Given the description of an element on the screen output the (x, y) to click on. 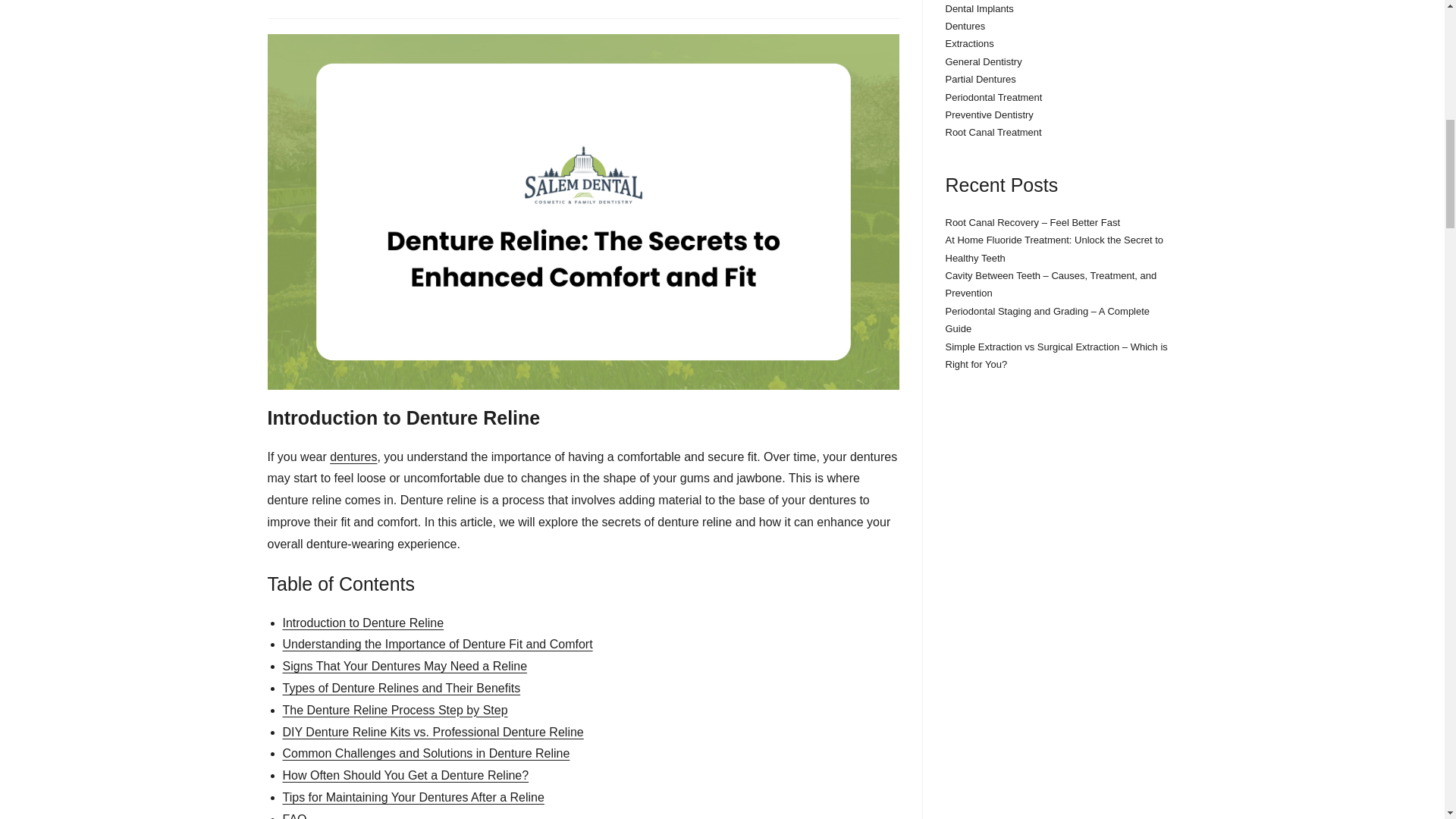
Types of Denture Relines and Their Benefits (400, 687)
DIY Denture Reline Kits vs. Professional Denture Reline (432, 731)
Introduction to Denture Reline (363, 622)
dentures (353, 456)
The Denture Reline Process Step by Step (394, 709)
Signs That Your Dentures May Need a Reline (404, 666)
Understanding the Importance of Denture Fit and Comfort (437, 644)
